Given the description of an element on the screen output the (x, y) to click on. 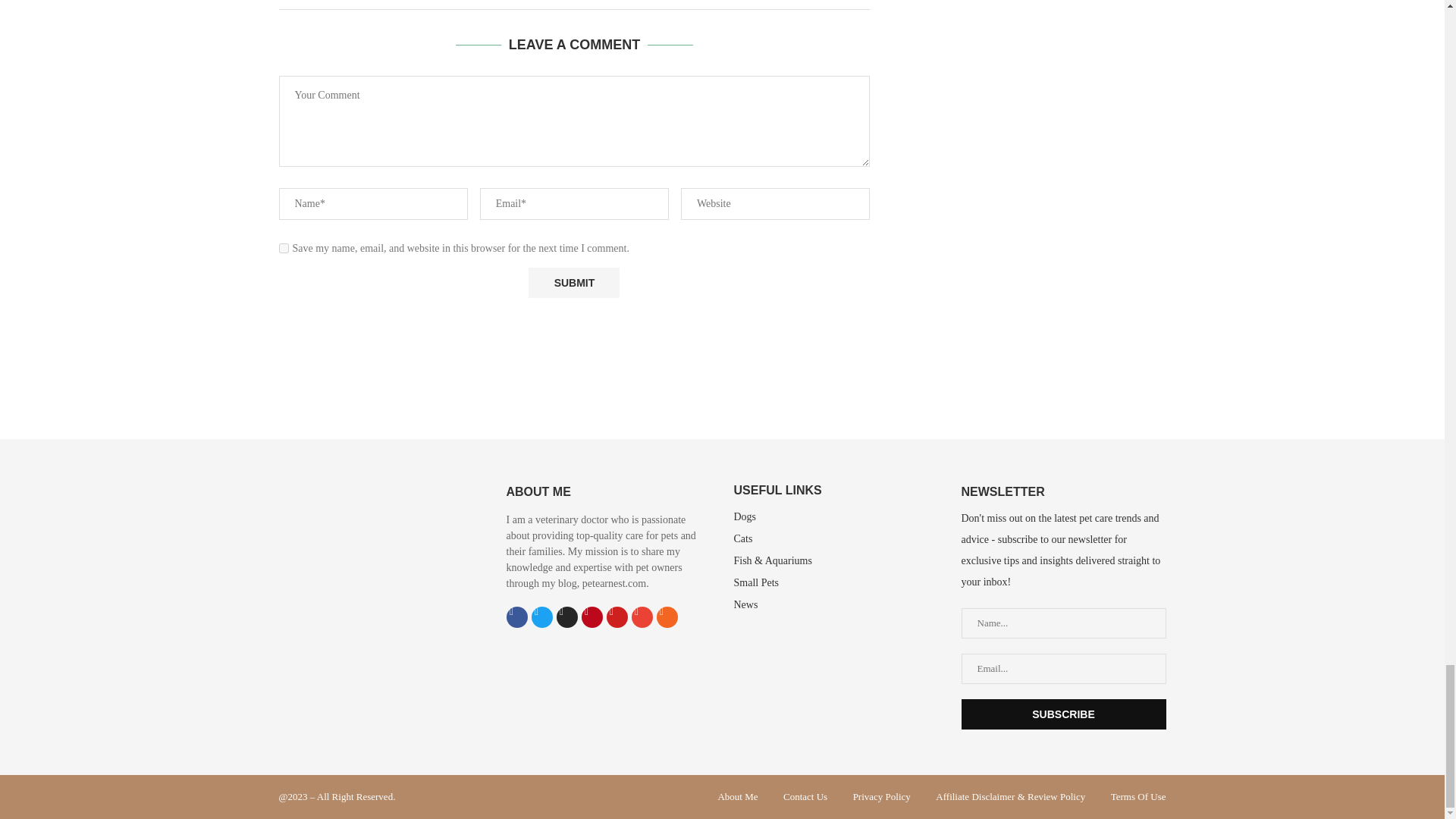
yes (283, 248)
Subscribe (1063, 714)
Submit (574, 282)
